Given the description of an element on the screen output the (x, y) to click on. 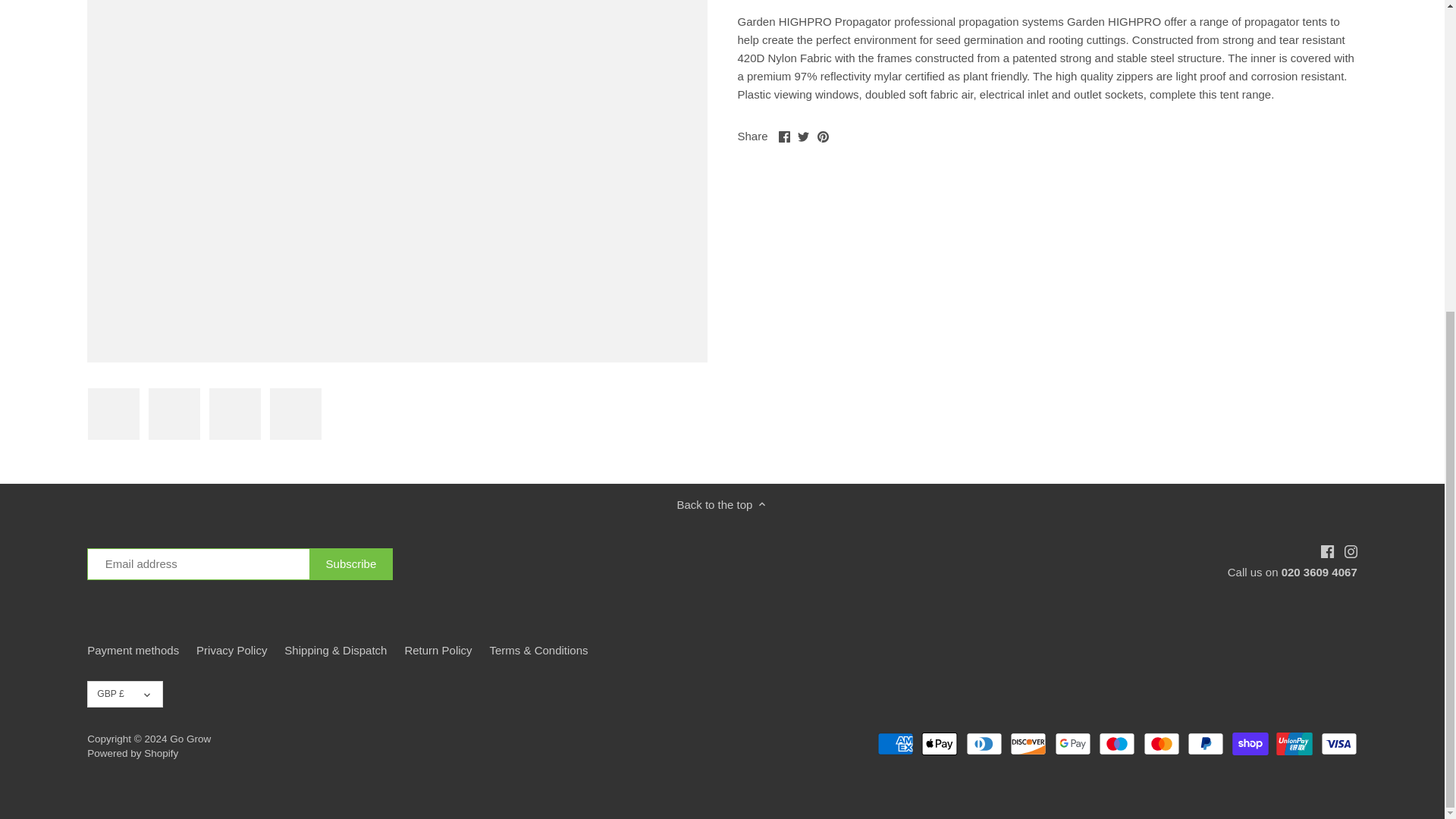
Facebook (1326, 551)
Subscribe (350, 563)
Google Pay (1072, 743)
American Express (895, 743)
Instagram (1349, 551)
Pinterest (822, 136)
Apple Pay (939, 743)
Discover (1028, 743)
Twitter (803, 136)
Facebook (784, 136)
